Given the description of an element on the screen output the (x, y) to click on. 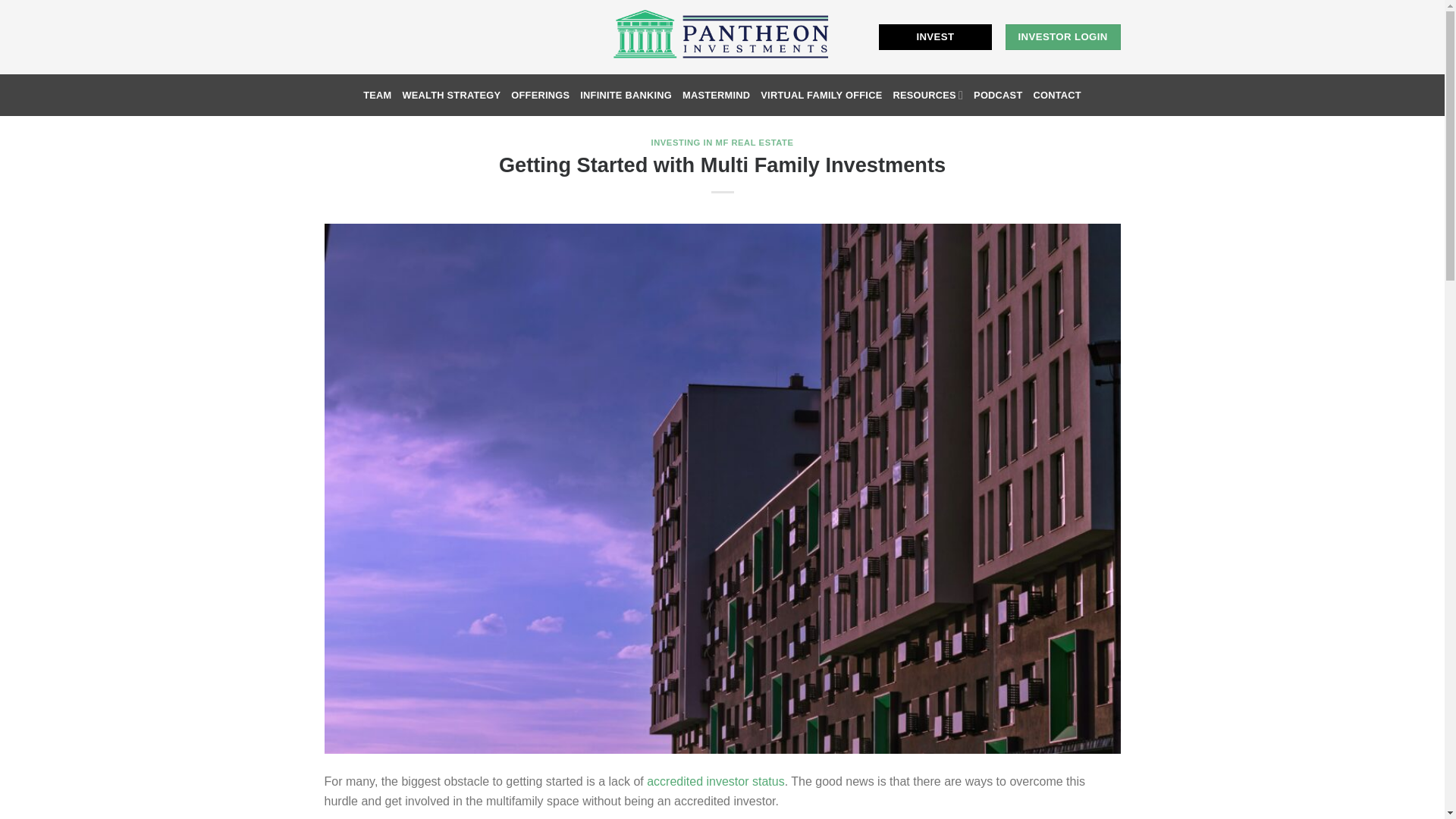
Pantheon Investments (722, 37)
OFFERINGS (540, 94)
RESOURCES (927, 94)
TEAM (376, 94)
        INVEST         (935, 36)
accredited investor status (715, 780)
VIRTUAL FAMILY OFFICE (821, 94)
INVESTING IN MF REAL ESTATE (721, 142)
INFINITE BANKING (625, 94)
MASTERMIND (715, 94)
